Given the description of an element on the screen output the (x, y) to click on. 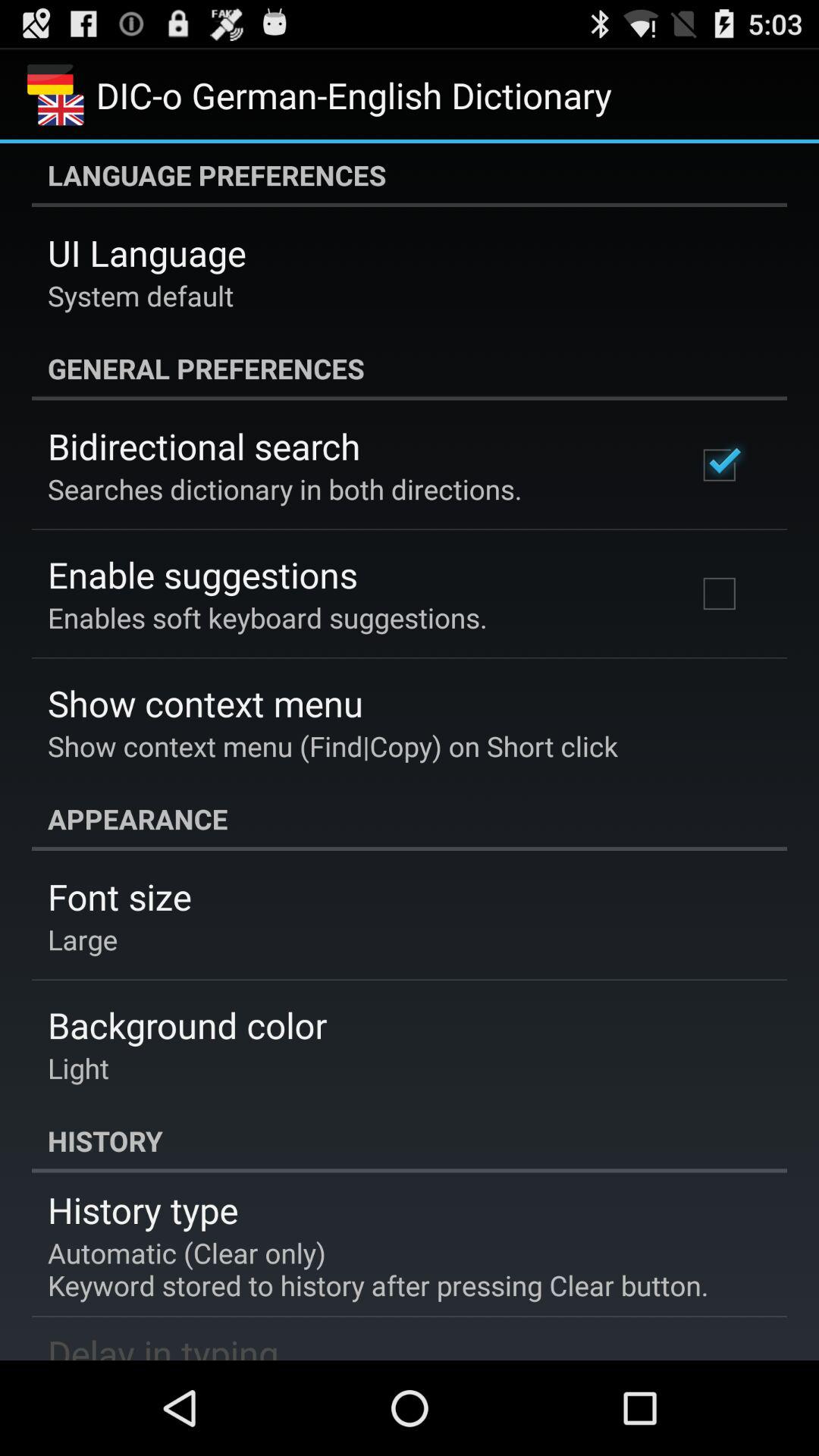
open general preferences item (409, 368)
